Given the description of an element on the screen output the (x, y) to click on. 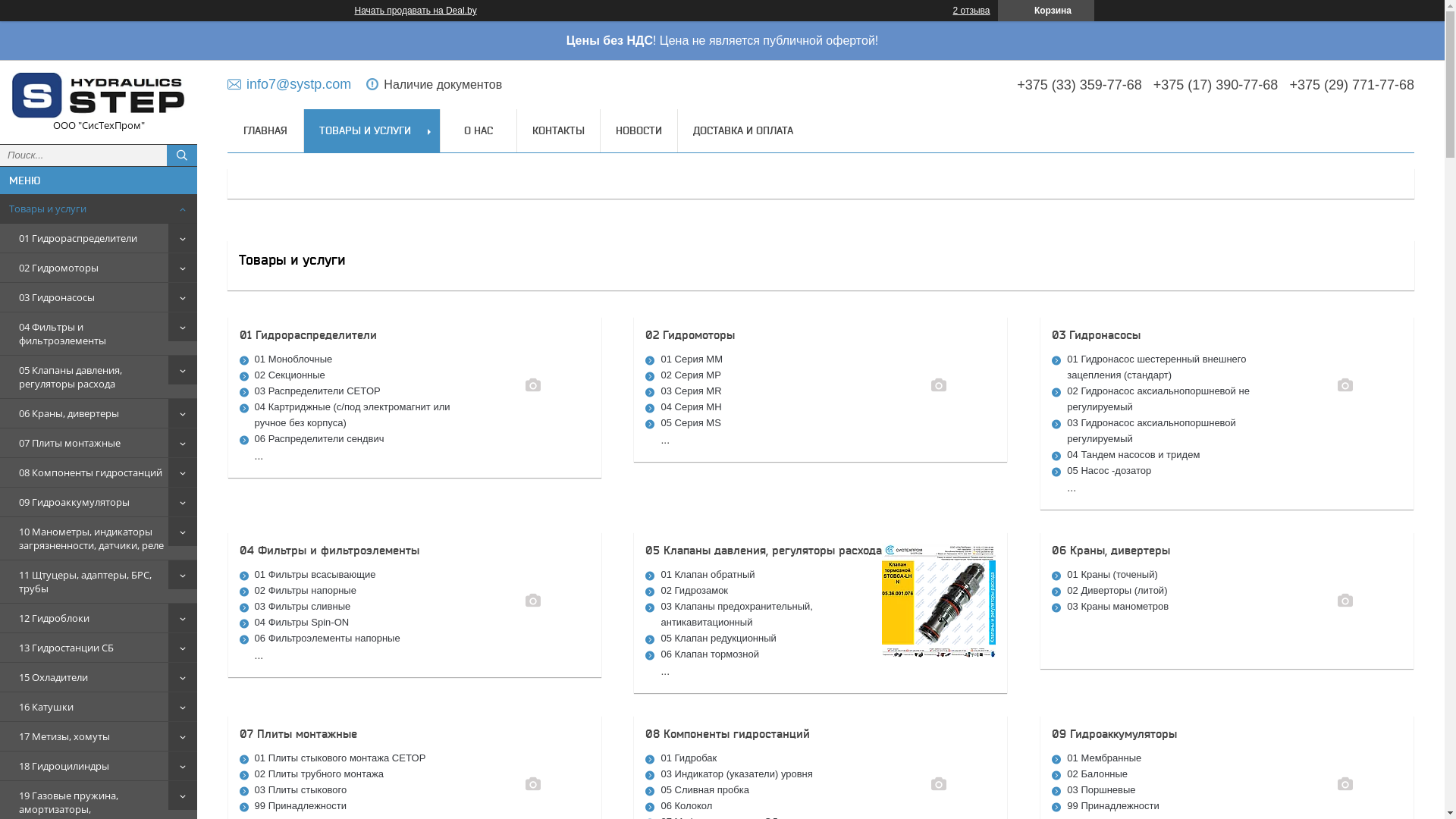
info7@systp.com Element type: text (289, 83)
